Given the description of an element on the screen output the (x, y) to click on. 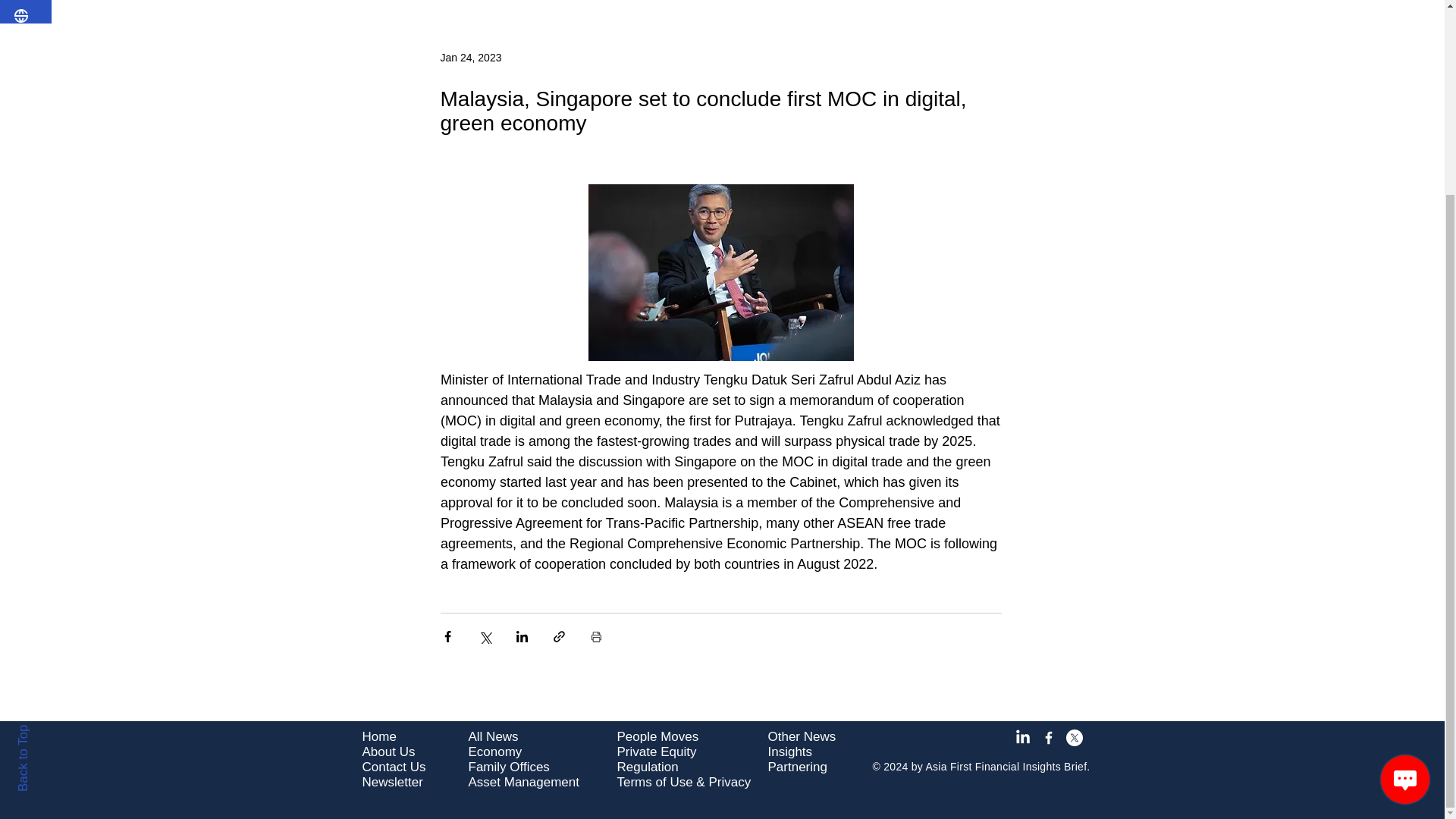
Contact Us (394, 766)
Jan 24, 2023 (469, 56)
People Moves (657, 736)
Asset Management (523, 781)
All News (493, 736)
Private Equity (657, 751)
Home (379, 736)
About Us (388, 751)
Family Offices (509, 766)
Newsletter (392, 781)
